Given the description of an element on the screen output the (x, y) to click on. 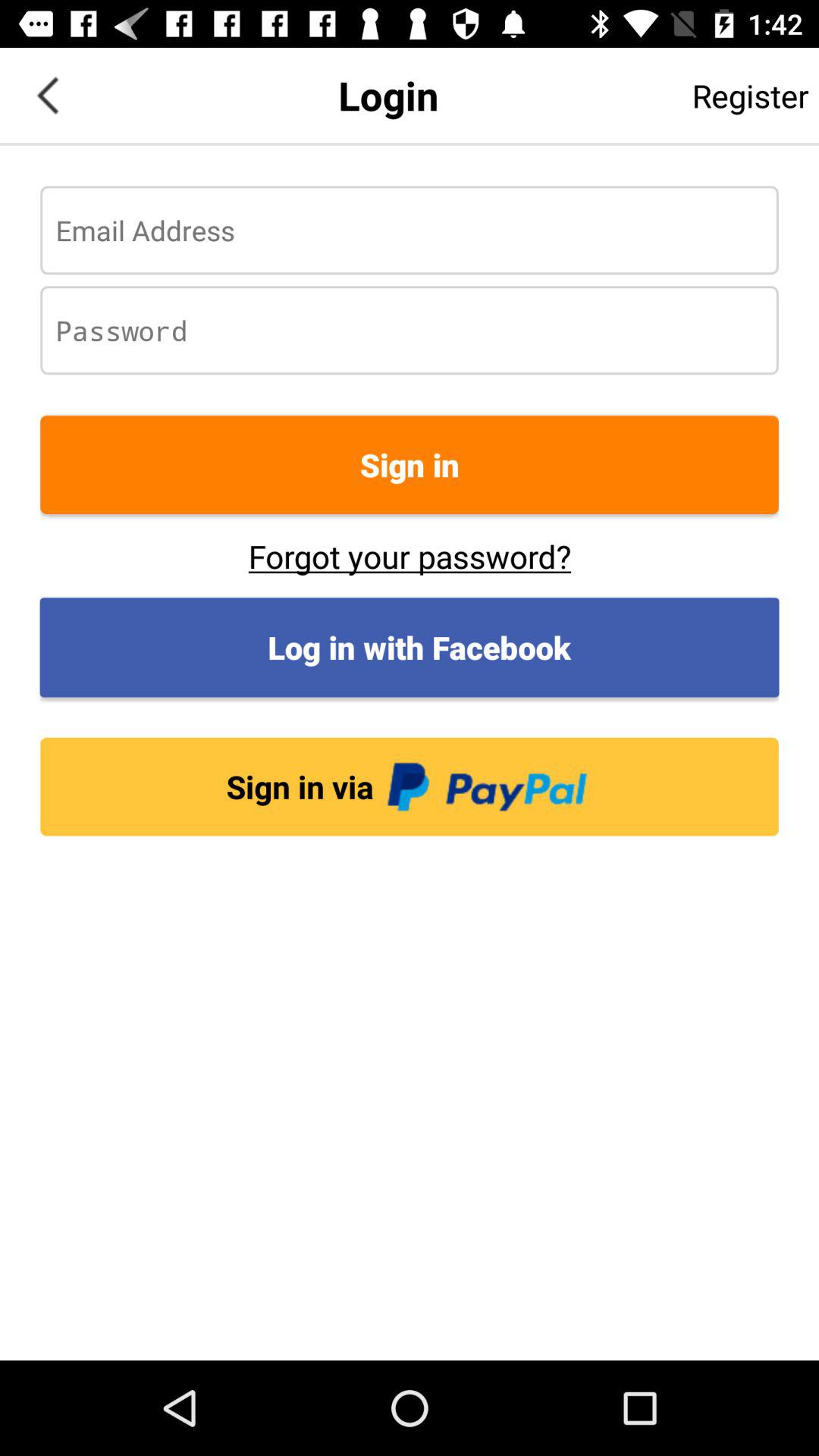
choose the app above sign in via app (409, 647)
